Given the description of an element on the screen output the (x, y) to click on. 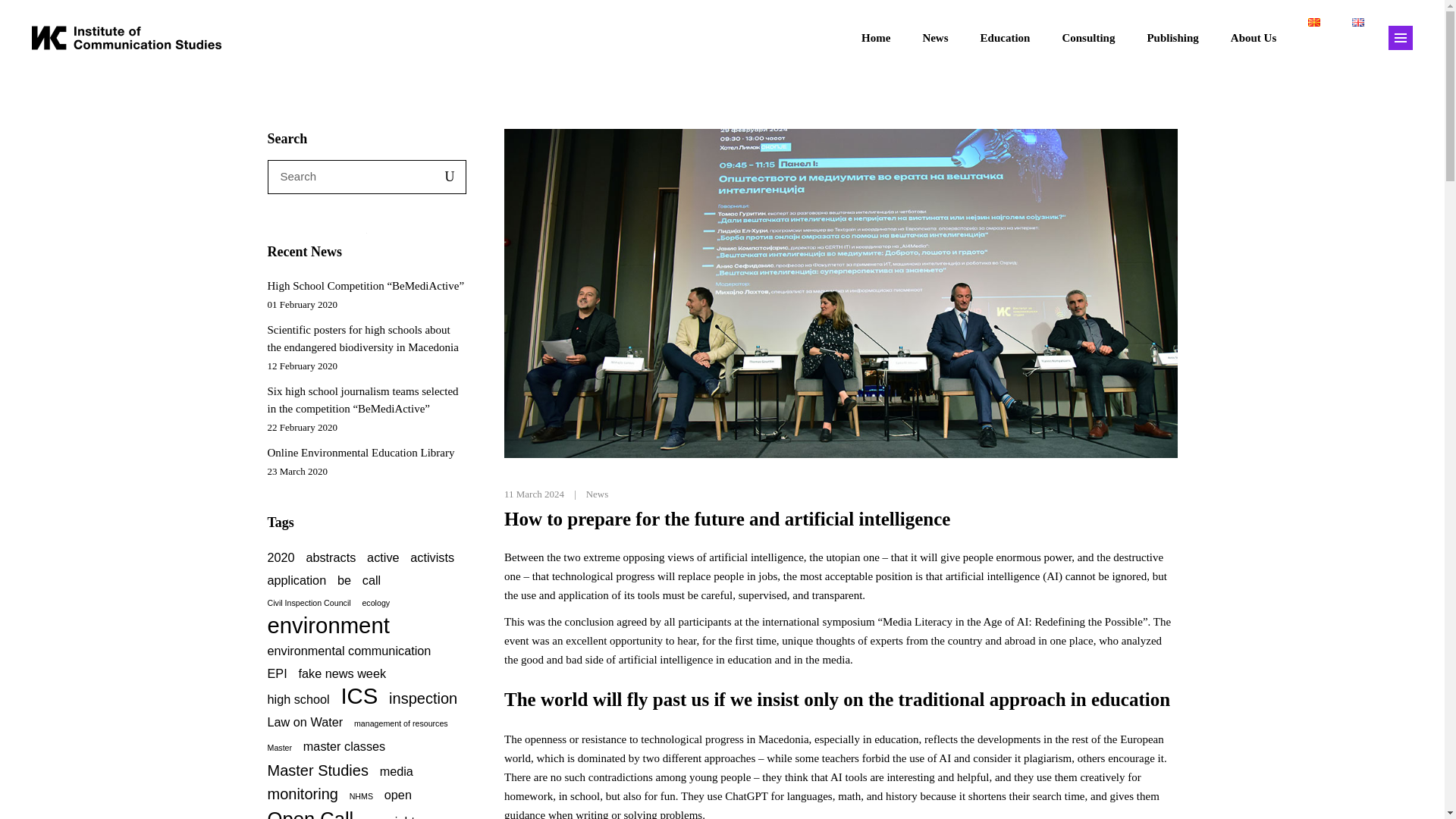
Online Environmental Education Library (360, 452)
Publishing (1172, 37)
Consulting (1088, 37)
About Us (1253, 37)
Search for: (347, 176)
Home (875, 37)
News (934, 37)
Education (1004, 37)
